Given the description of an element on the screen output the (x, y) to click on. 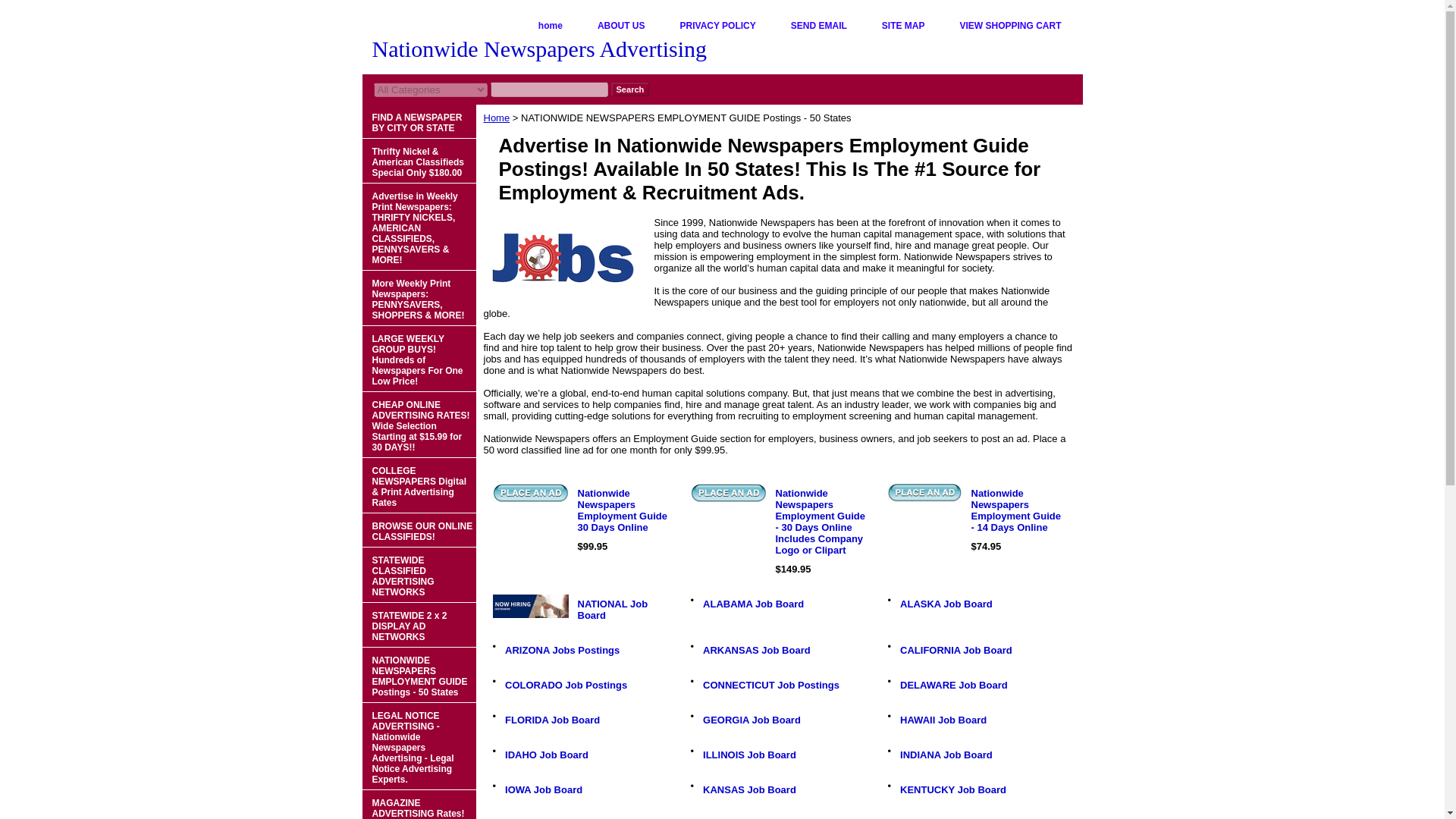
ABOUT US (621, 26)
Nationwide Newspapers Employment Guide 30 Days Online (622, 510)
ARKANSAS Job Board (756, 650)
DELAWARE Job Board (953, 685)
ARIZONA Jobs Postings (562, 650)
SITE MAP (903, 26)
IDAHO Job Board (546, 754)
COLORADO Job Postings (566, 685)
NATIONAL Job Board (612, 609)
ALABAMA Job Board (753, 603)
Nationwide Newspapers Advertising (551, 51)
HAWAII Job Board (943, 719)
Nationwide Newspapers Employment Guide - 14 Days Online (923, 493)
COLORADO Job Postings (566, 685)
